Given the description of an element on the screen output the (x, y) to click on. 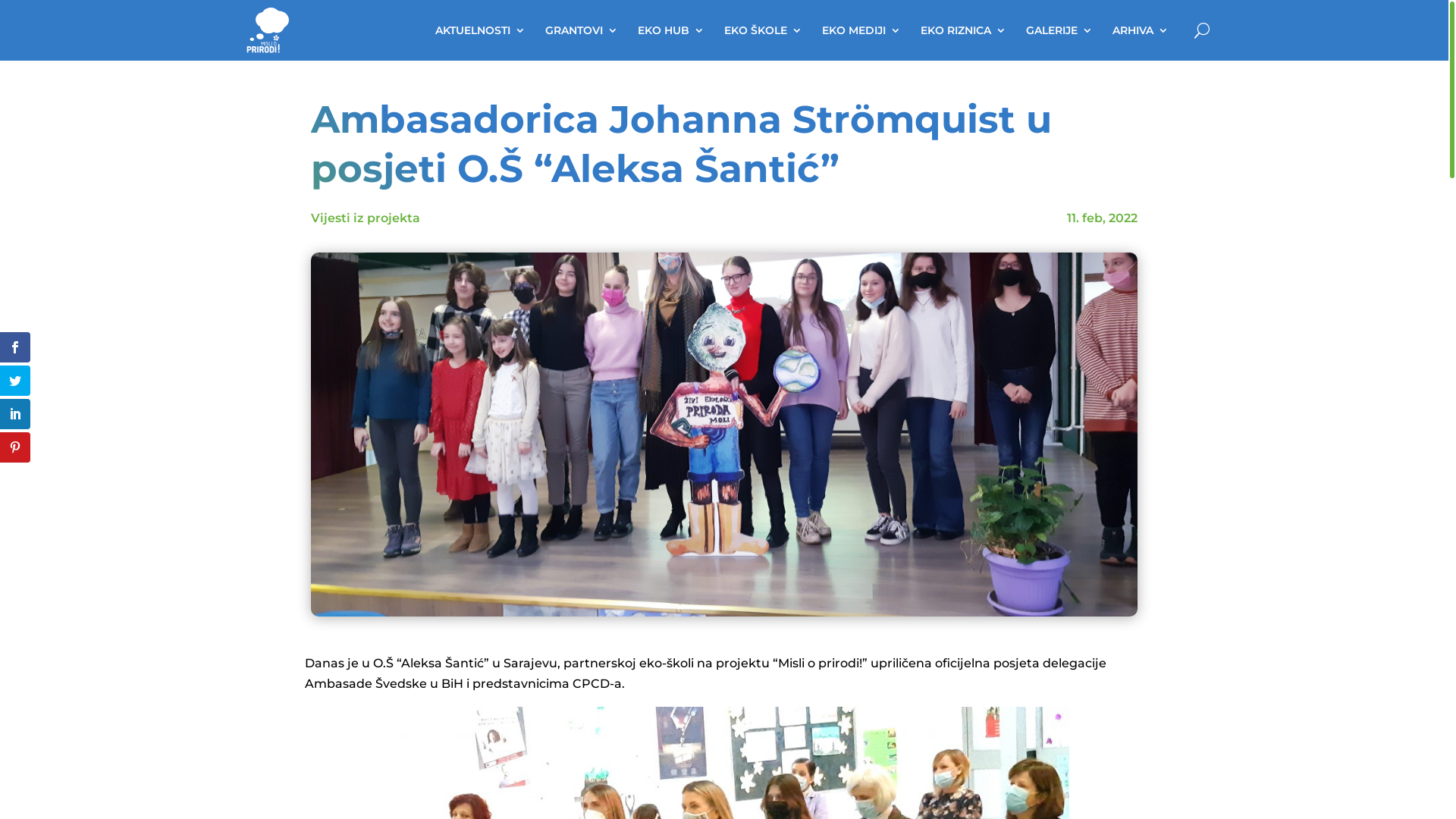
GALERIJE Element type: text (1059, 30)
GRANTOVI Element type: text (581, 30)
Vijesti iz projekta Element type: text (365, 217)
AKTUELNOSTI Element type: text (480, 30)
EKO RIZNICA Element type: text (963, 30)
EKO MEDIJI Element type: text (861, 30)
ARHIVA Element type: text (1140, 30)
EKO HUB Element type: text (670, 30)
